Given the description of an element on the screen output the (x, y) to click on. 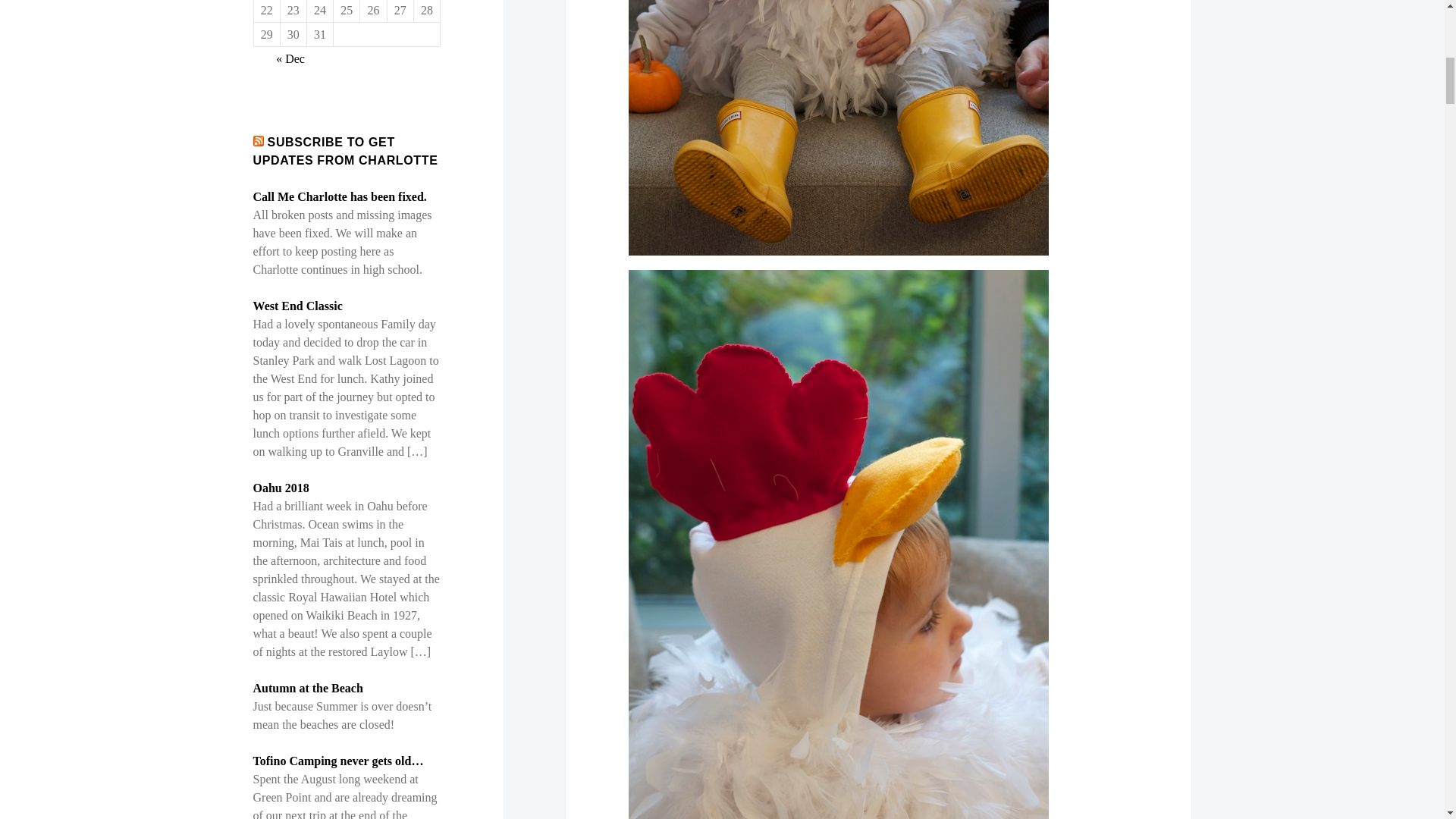
West End Classic (297, 305)
Autumn at the Beach (307, 687)
Call Me Charlotte has been fixed. (339, 196)
SUBSCRIBE TO GET UPDATES FROM CHARLOTTE (345, 151)
Oahu 2018 (280, 487)
